Given the description of an element on the screen output the (x, y) to click on. 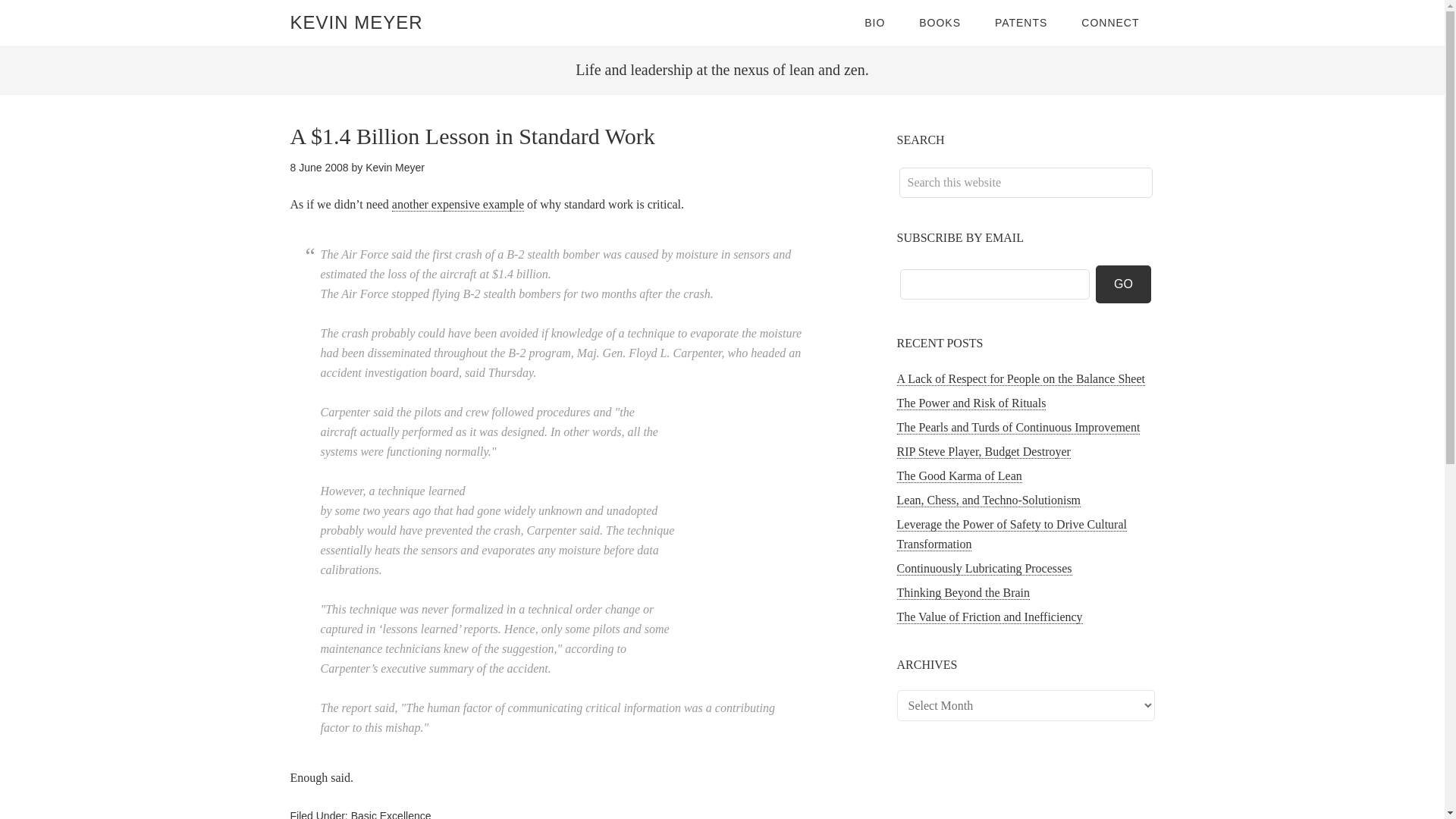
The Pearls and Turds of Continuous Improvement (1018, 427)
Go (1123, 284)
BIO (873, 22)
Lean, Chess, and Techno-Solutionism (988, 499)
RIP Steve Player, Budget Destroyer (983, 451)
A Lack of Respect for People on the Balance Sheet (1020, 378)
BOOKS (939, 22)
Go (1123, 284)
another expensive example (457, 204)
